Given the description of an element on the screen output the (x, y) to click on. 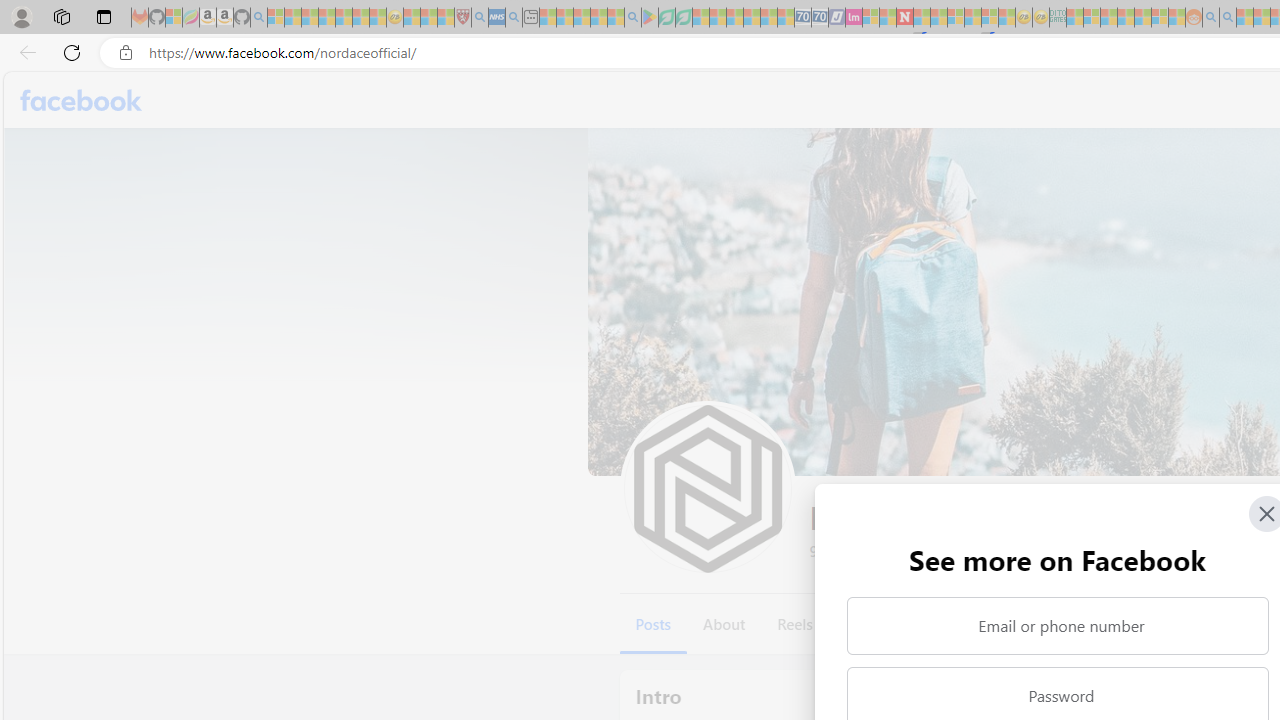
utah sues federal government - Search - Sleeping (513, 17)
